Given the description of an element on the screen output the (x, y) to click on. 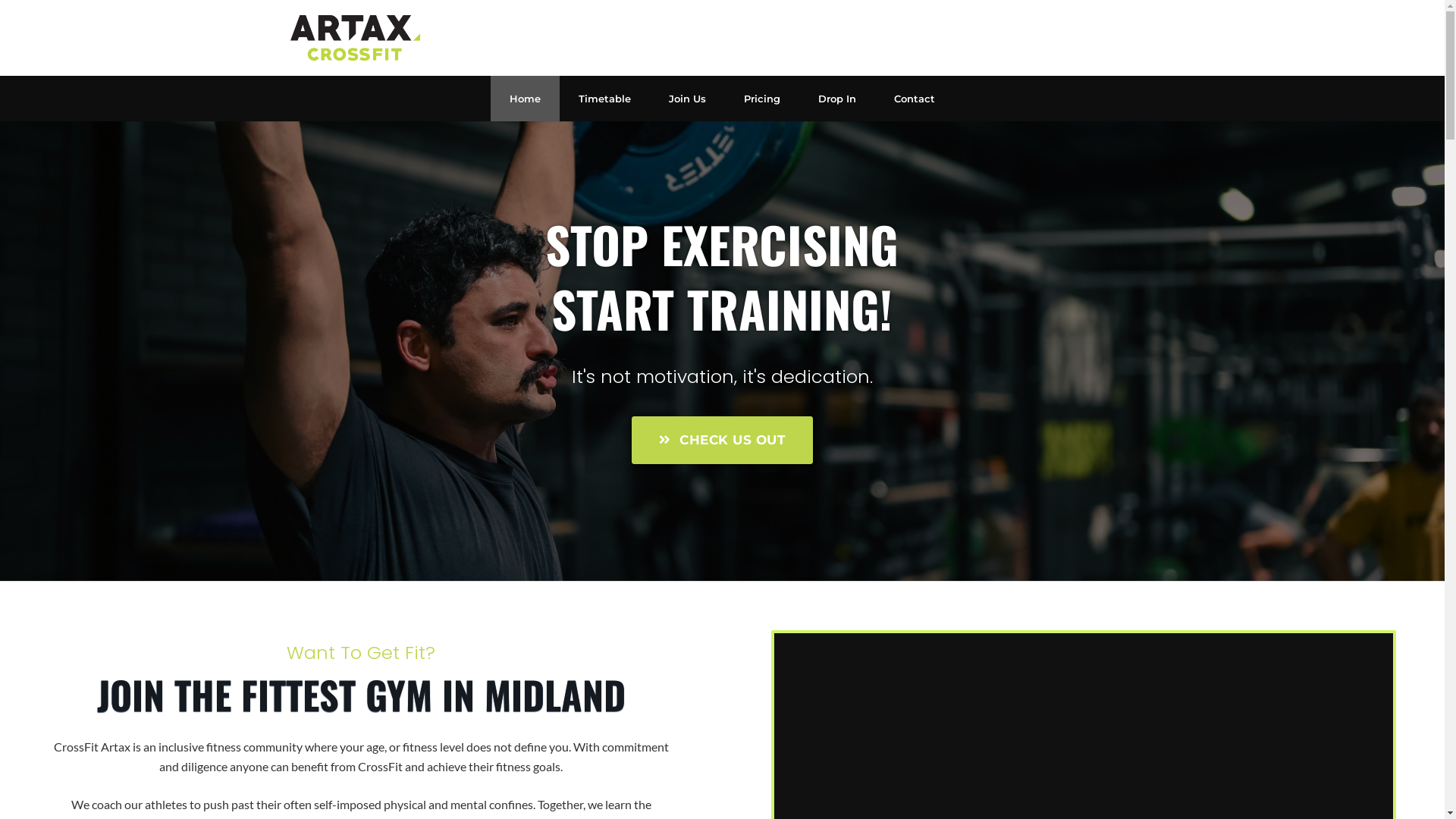
Contact Element type: text (914, 98)
Timetable Element type: text (604, 98)
Home Element type: text (524, 98)
Join Us Element type: text (686, 98)
Drop In Element type: text (837, 98)
CHECK US OUT Element type: text (721, 440)
Pricing Element type: text (761, 98)
